Given the description of an element on the screen output the (x, y) to click on. 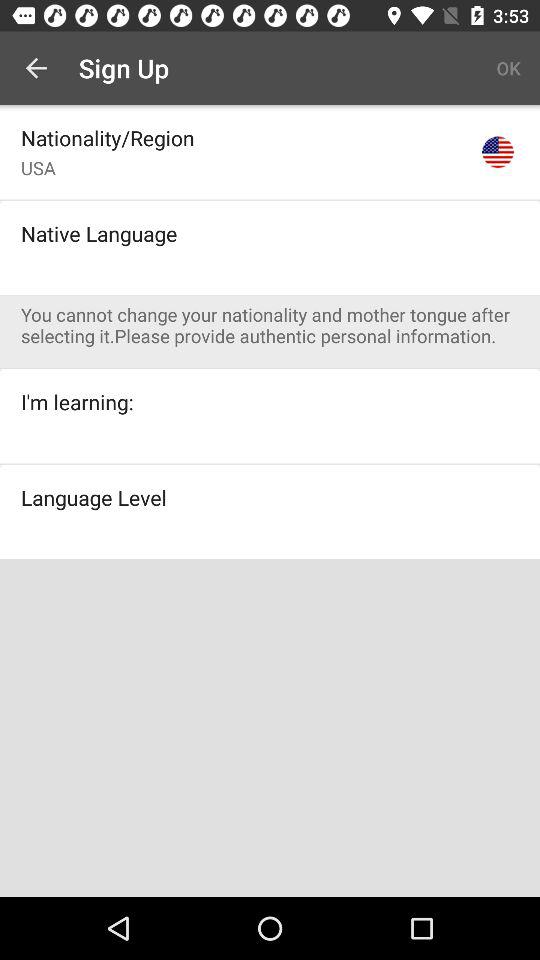
swipe to native language (99, 233)
